Given the description of an element on the screen output the (x, y) to click on. 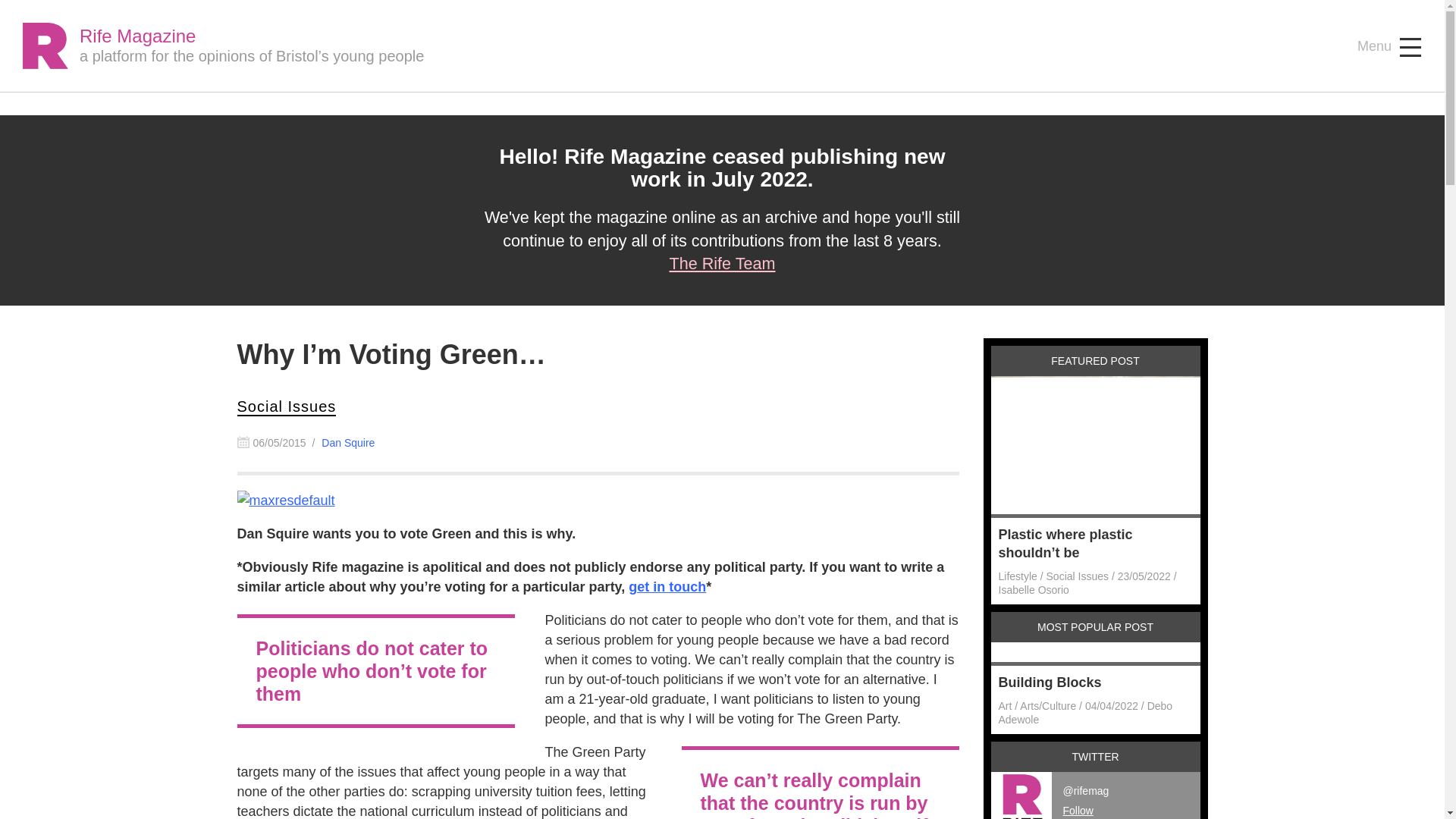
Menu (1389, 46)
The Rife Team (721, 262)
Social Issues (285, 407)
get in touch (667, 586)
